Given the description of an element on the screen output the (x, y) to click on. 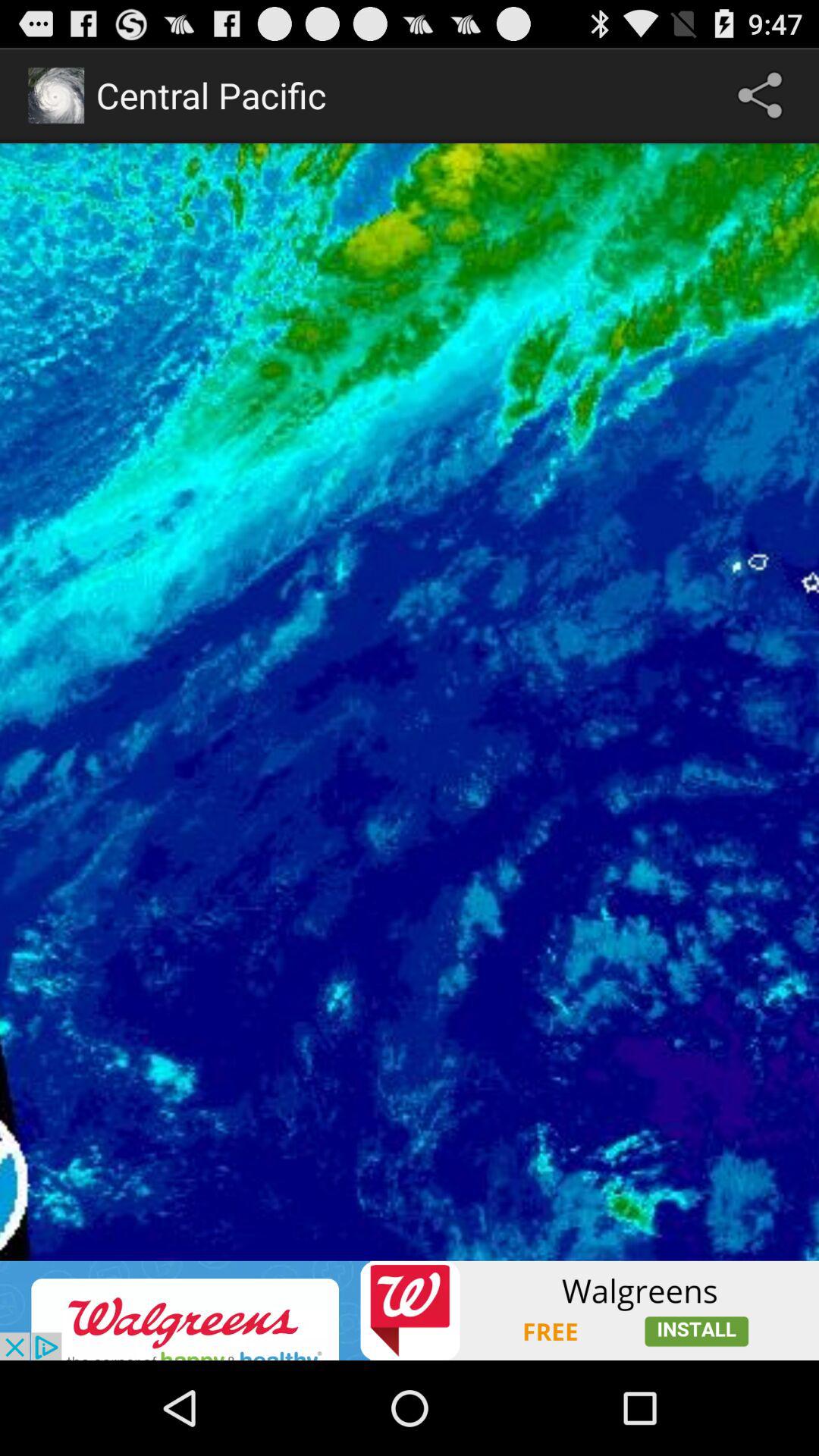
advertisement (409, 1310)
